Given the description of an element on the screen output the (x, y) to click on. 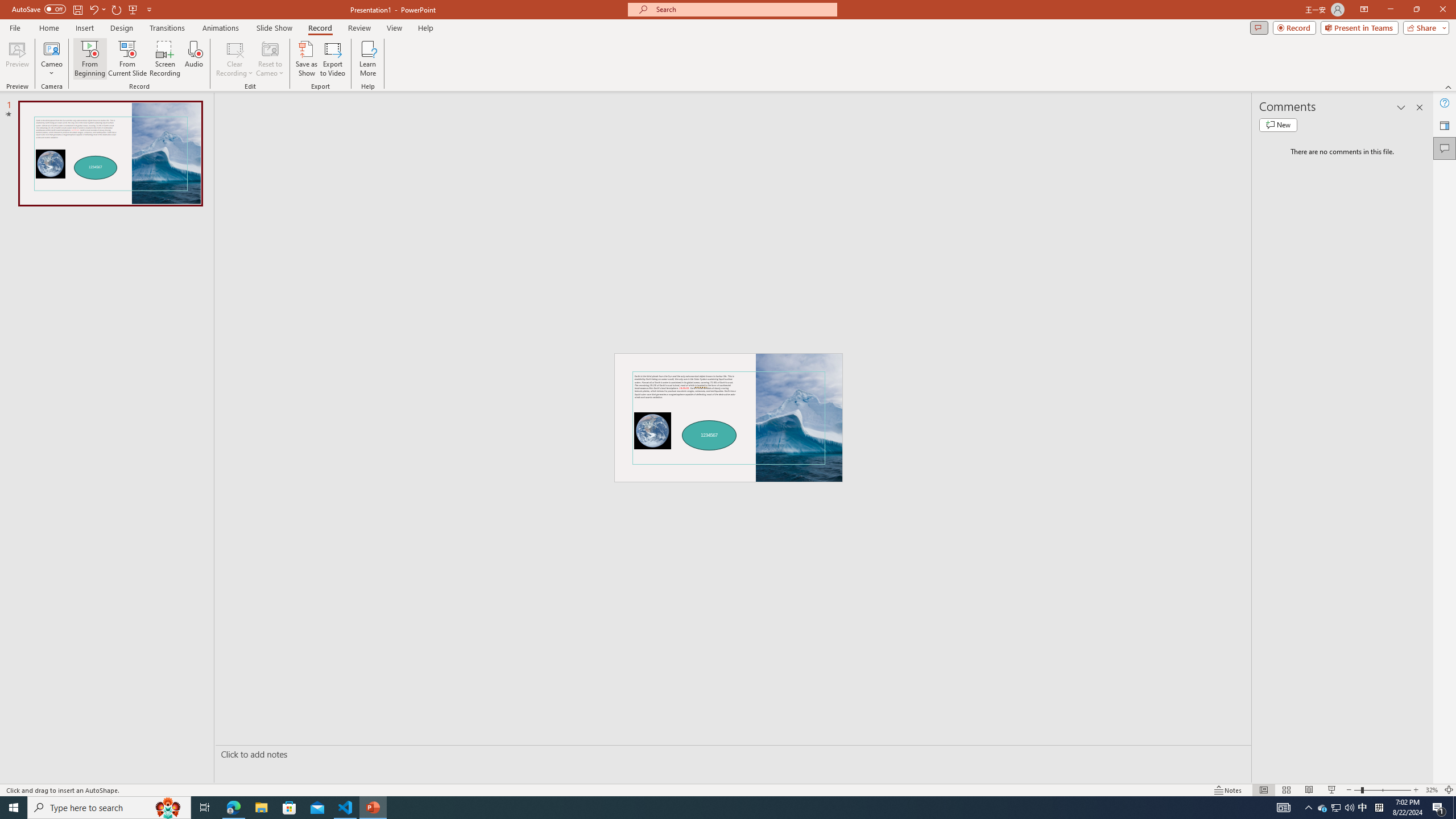
Reset to Cameo (269, 58)
Audio (193, 58)
